Given the description of an element on the screen output the (x, y) to click on. 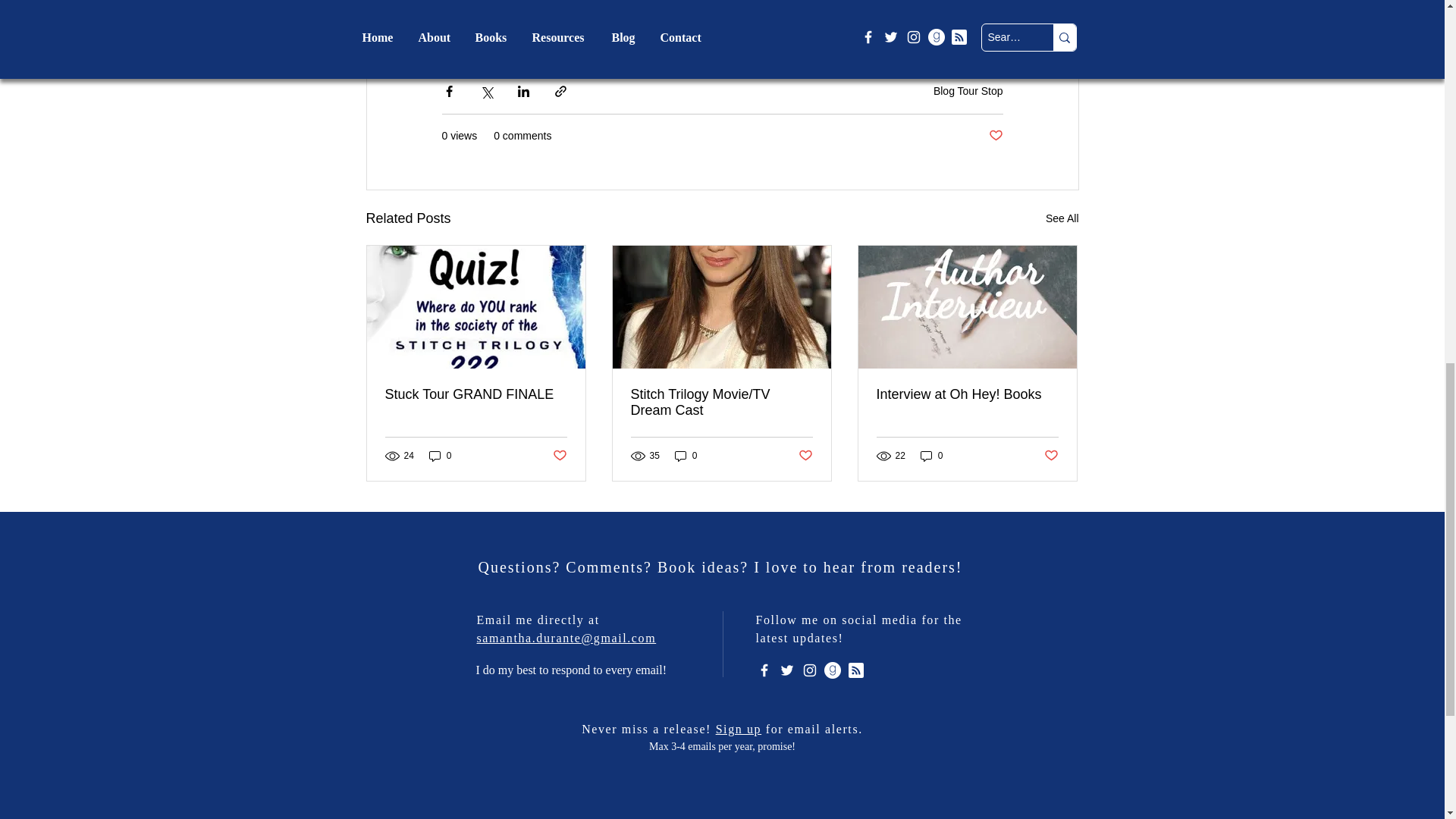
See All (1061, 219)
Embedded Content (721, 786)
Blog Tour Stop (968, 91)
Post not marked as liked (995, 135)
Stuck Tour GRAND FINALE (476, 394)
